Given the description of an element on the screen output the (x, y) to click on. 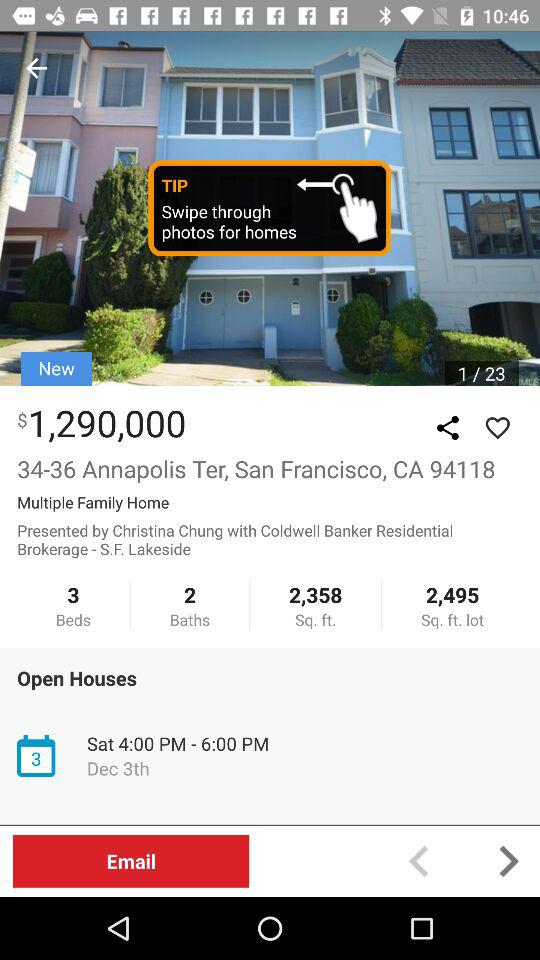
go to previous (36, 68)
